Given the description of an element on the screen output the (x, y) to click on. 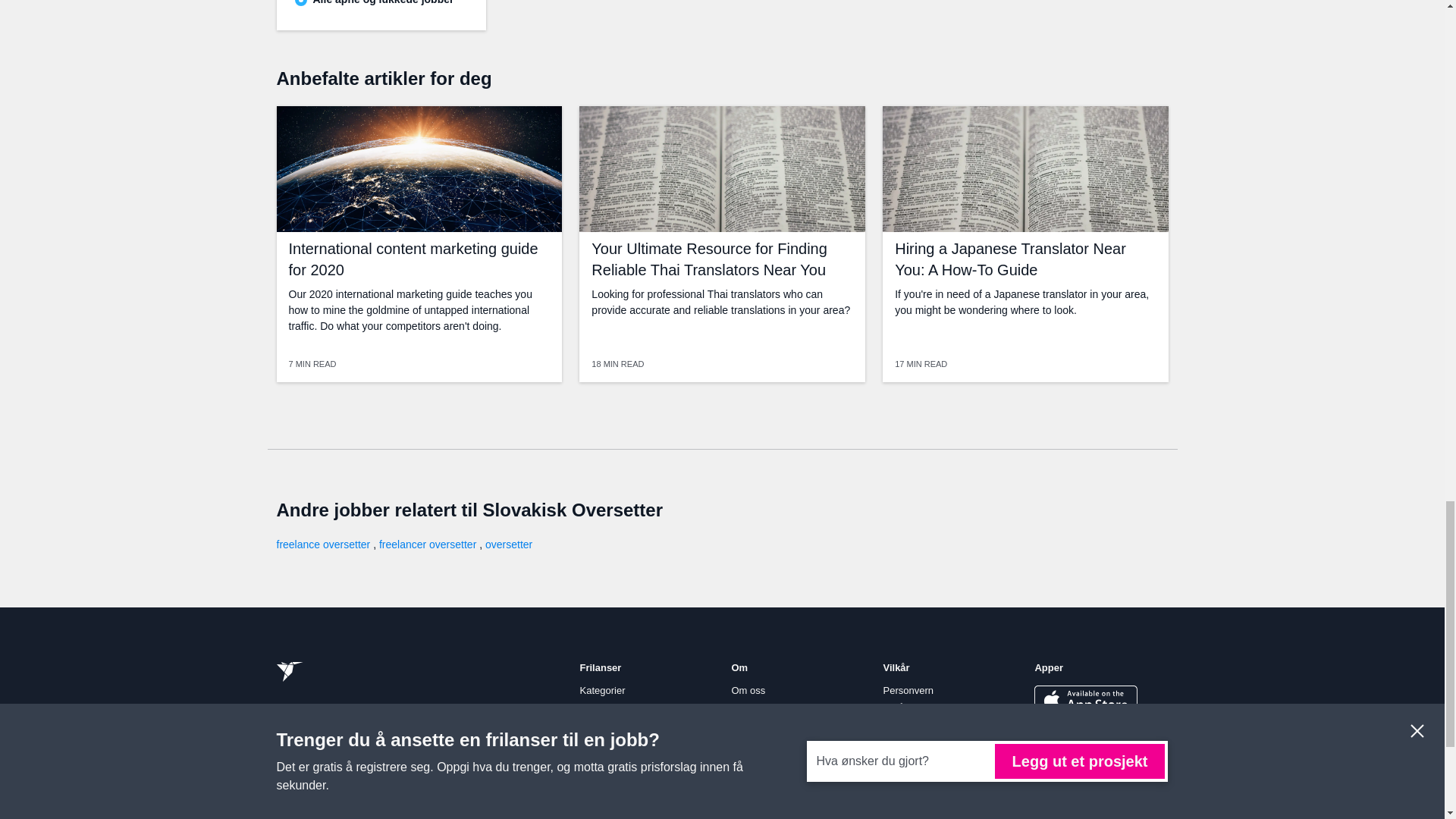
Siste prosjekter (1146, 791)
Last ned fra App Store (1085, 700)
